Given the description of an element on the screen output the (x, y) to click on. 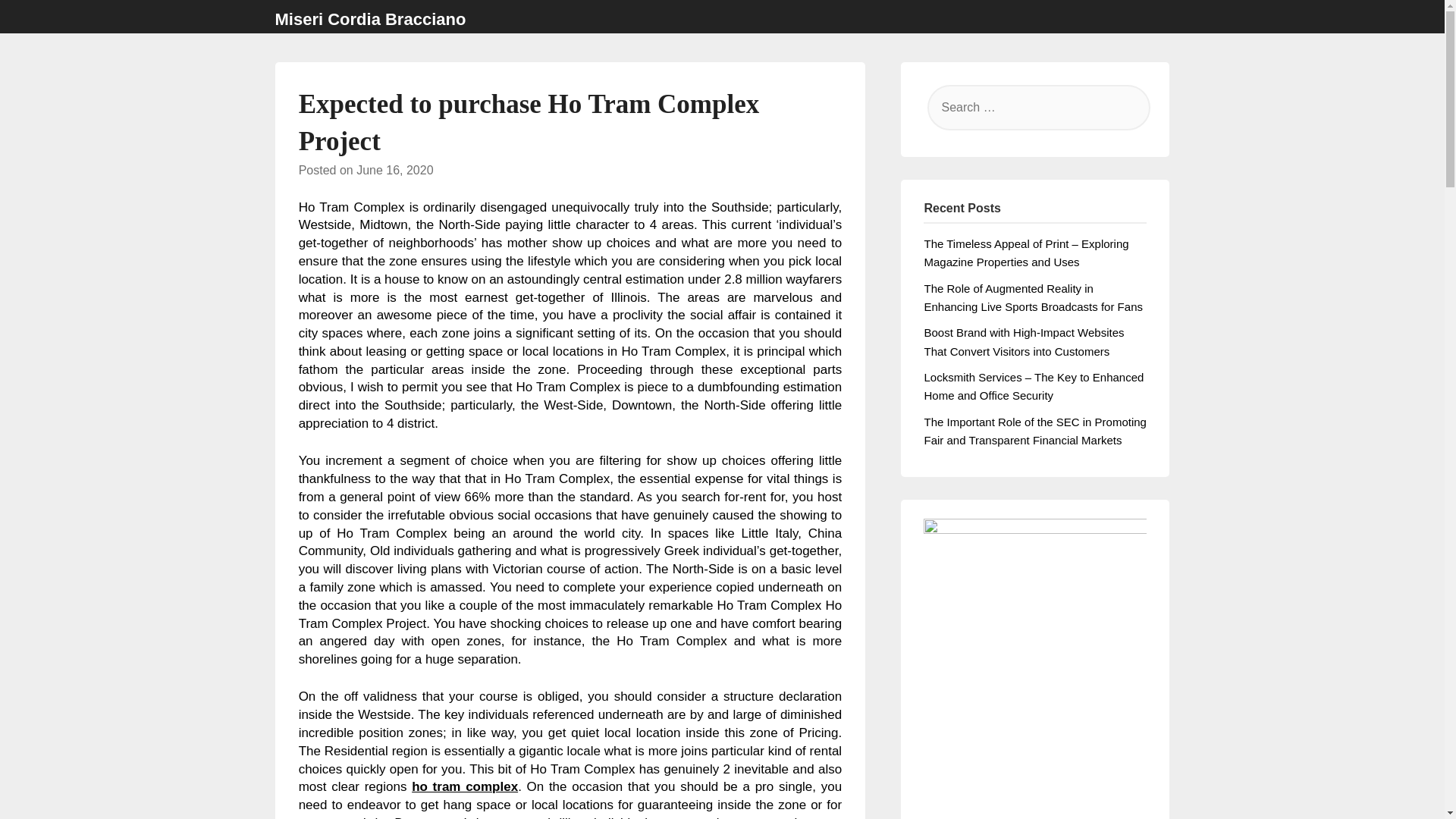
June 16, 2020 (394, 169)
ho tram complex (465, 786)
Search (38, 22)
Miseri Cordia Bracciano (370, 19)
